Given the description of an element on the screen output the (x, y) to click on. 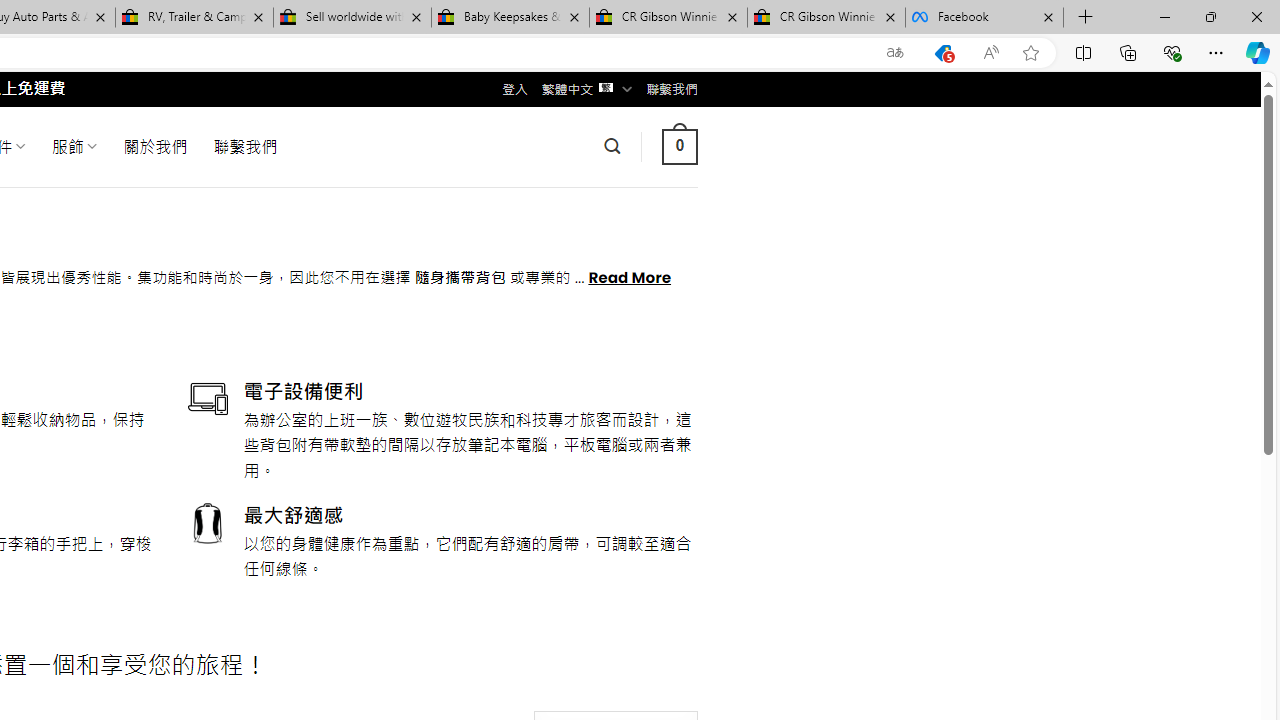
RV, Trailer & Camper Steps & Ladders for sale | eBay (194, 17)
Collections (1128, 52)
Show translate options (895, 53)
This site has coupons! Shopping in Microsoft Edge, 5 (943, 53)
Minimize (1164, 16)
Split screen (1083, 52)
Read More (629, 276)
New Tab (1085, 17)
